Given the description of an element on the screen output the (x, y) to click on. 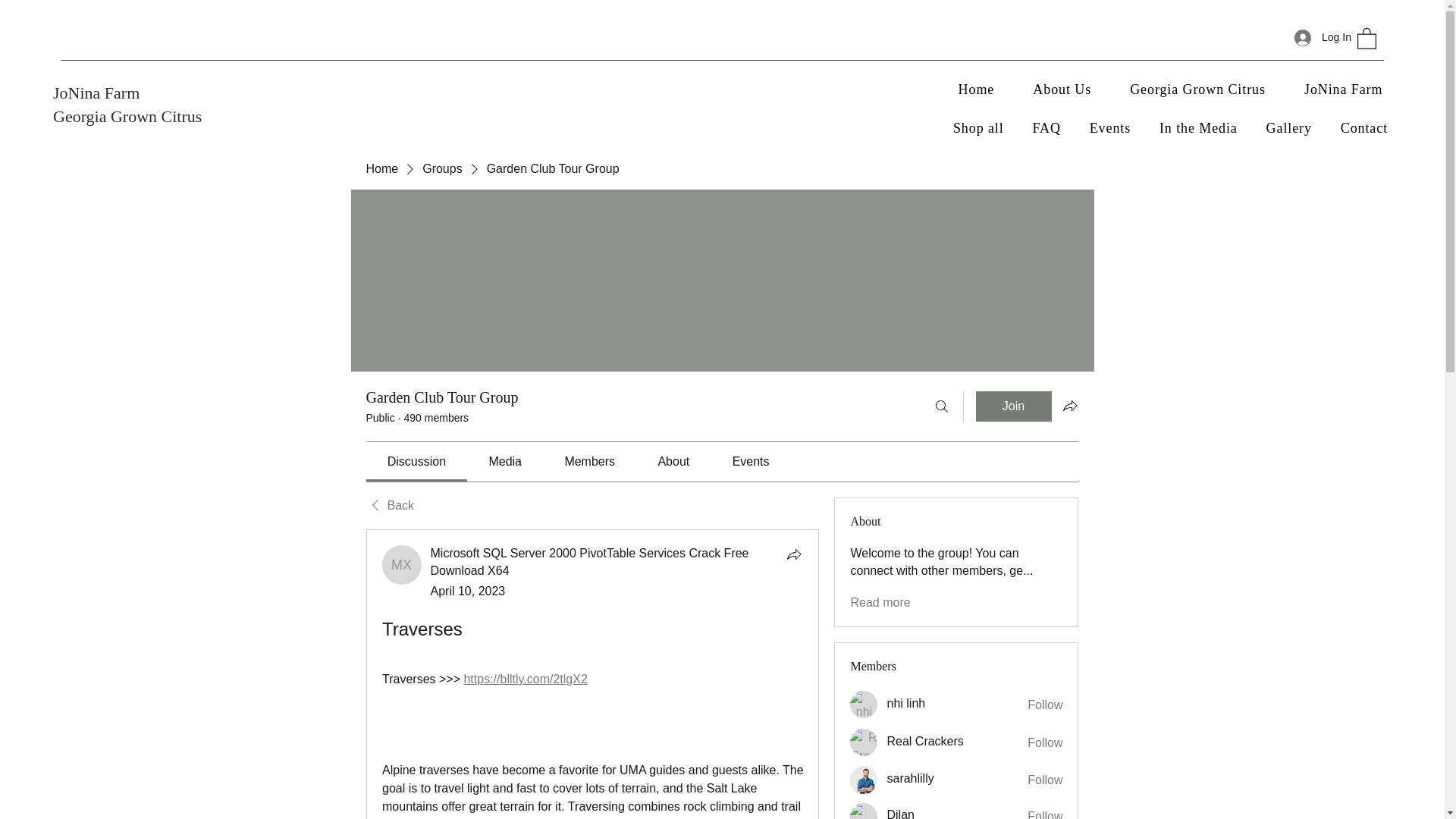
sarahlilly (863, 779)
Gallery (1289, 128)
Home (381, 168)
Contact (1364, 128)
Home (976, 89)
Georgia Grown Citrus (1197, 89)
Shop all (978, 128)
Dilan (900, 813)
April 10, 2023 (467, 590)
FAQ (1046, 128)
